Given the description of an element on the screen output the (x, y) to click on. 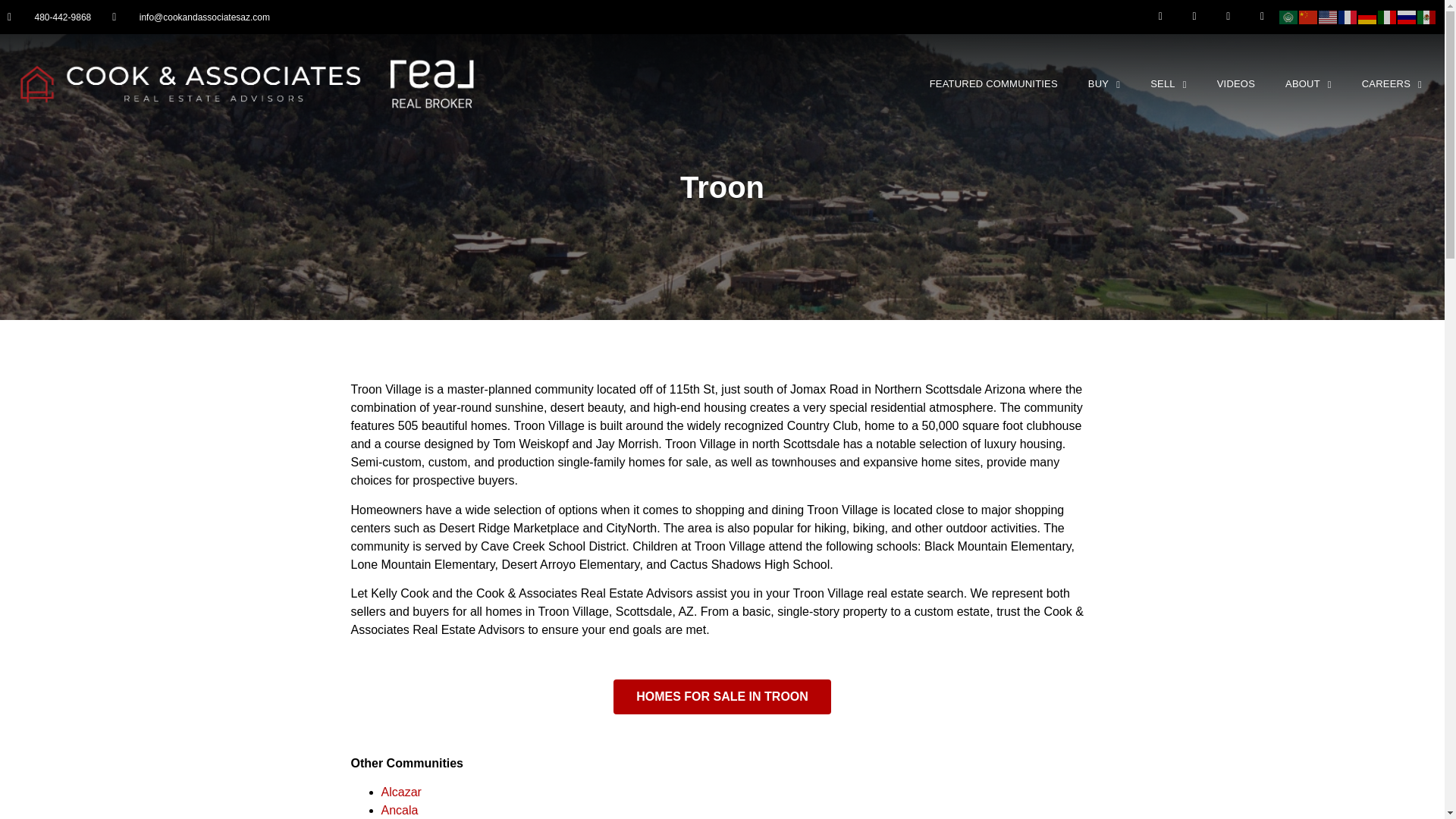
480-442-9868 (48, 17)
German (1367, 15)
English (1328, 15)
Arizona Communities (993, 83)
BUY (1104, 83)
Russian (1406, 15)
Homes for Sale in Troon (721, 696)
French (1348, 15)
Italian (1387, 15)
Phoenix Home Search (1104, 83)
Spanish (1426, 15)
FEATURED COMMUNITIES (993, 83)
Arabic (1288, 15)
